Given the description of an element on the screen output the (x, y) to click on. 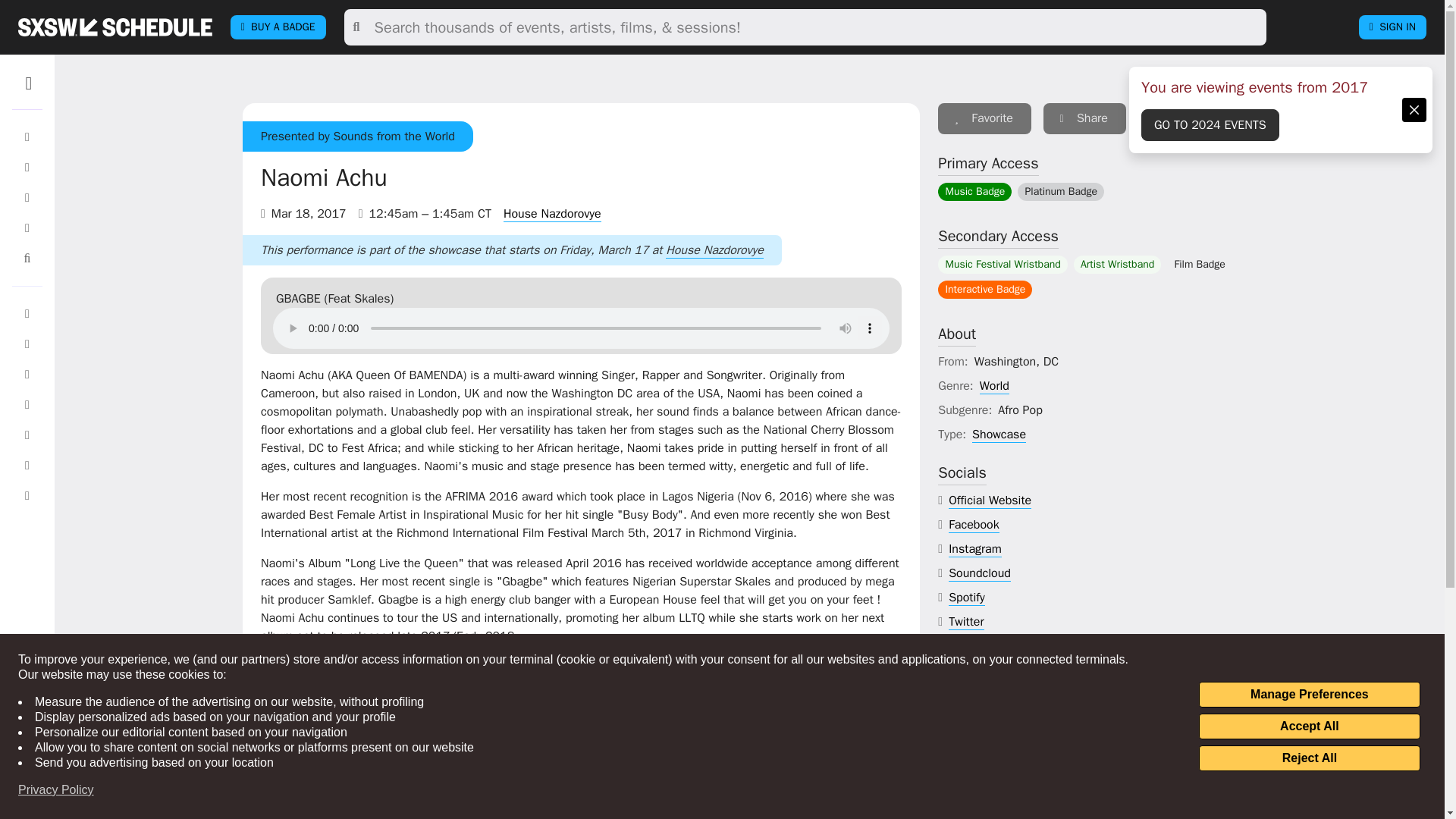
soundcloud (979, 573)
SIGN IN (1392, 27)
Reject All (1309, 758)
spotify (967, 597)
facebook (973, 524)
sxsw SCHEDULE (114, 27)
BUY A BADGE (278, 27)
Manage Preferences (1309, 694)
website (989, 500)
twitter (966, 621)
GO TO 2024 EVENTS (1210, 124)
Privacy Policy (55, 789)
Sign In to add to your favorites. (983, 118)
House Nazdorovye (552, 213)
instagram (975, 549)
